Given the description of an element on the screen output the (x, y) to click on. 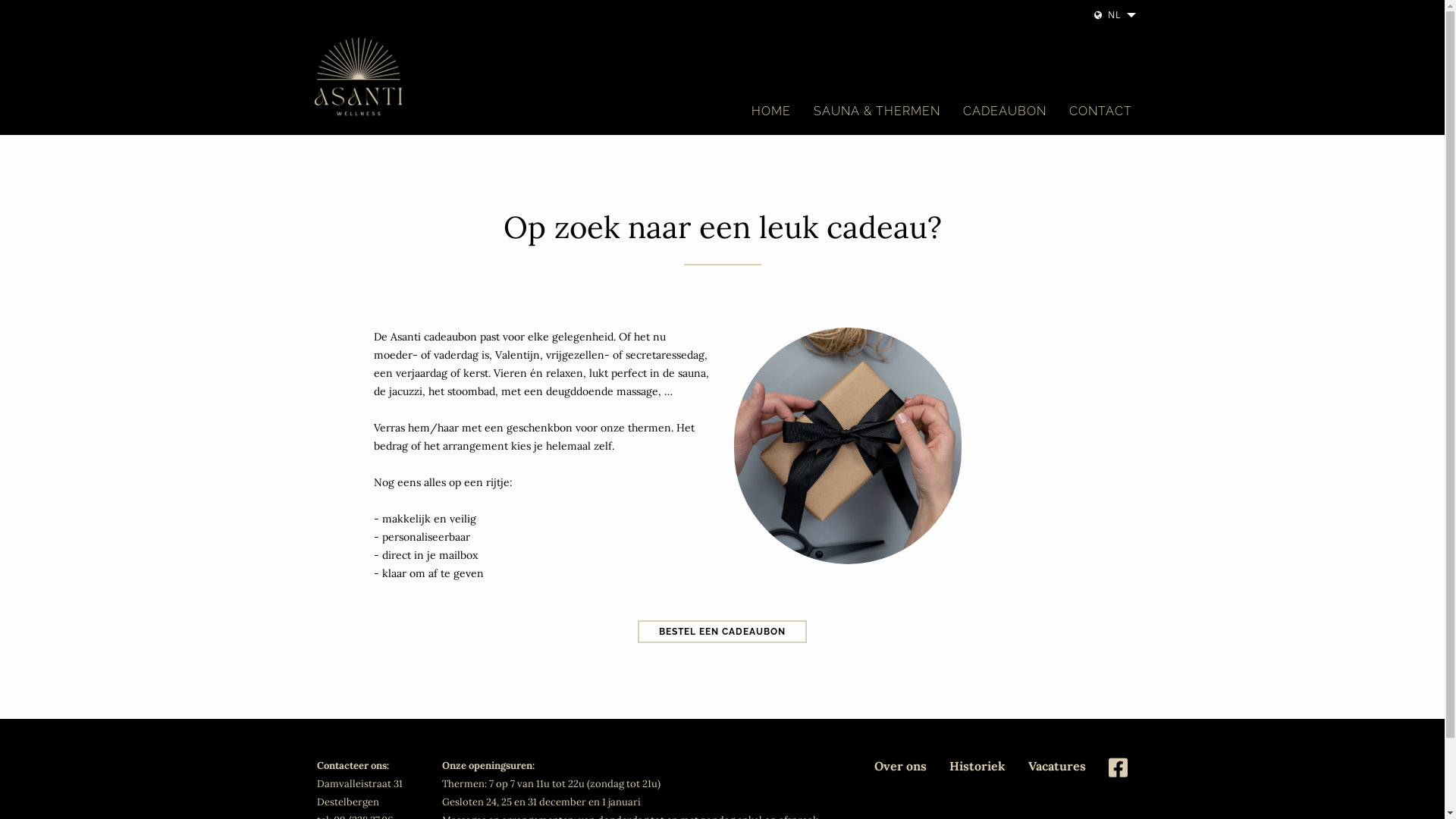
NL Element type: text (1113, 15)
Historiek Element type: text (977, 765)
HOME Element type: text (771, 111)
SAUNA & THERMEN Element type: text (876, 111)
BESTEL EEN CADEAUBON Element type: text (721, 631)
CONTACT Element type: text (1099, 111)
Over ons Element type: text (900, 765)
Vacatures Element type: text (1056, 765)
CADEAUBON Element type: text (1003, 111)
